Given the description of an element on the screen output the (x, y) to click on. 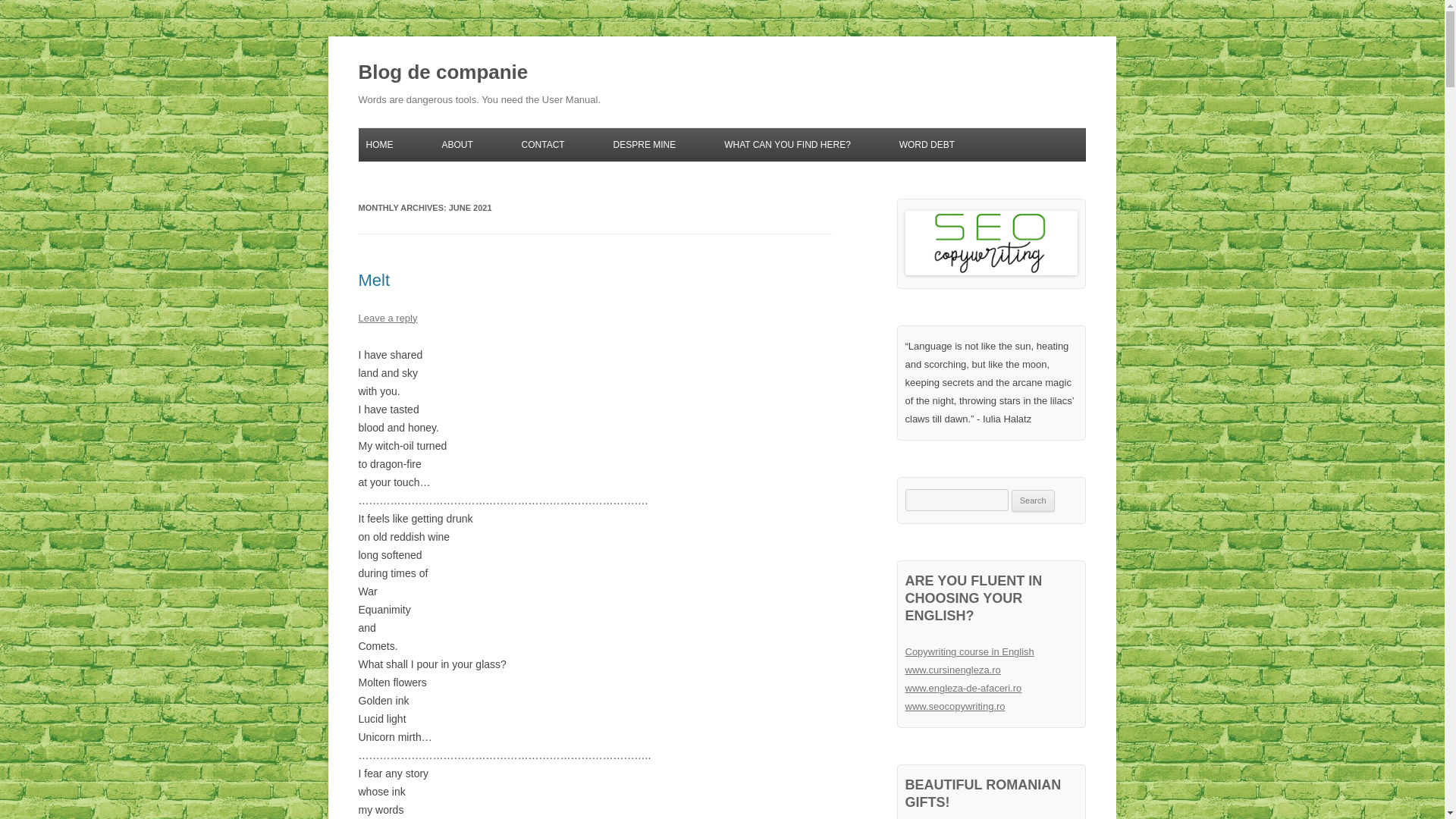
Blog de companie (442, 72)
Blog de companie (442, 72)
HOME (379, 144)
ABOUT (456, 144)
WORD DEBT (926, 144)
Leave a reply (387, 317)
Melt (374, 280)
DESPRE MINE (644, 144)
Search (1032, 500)
